Given the description of an element on the screen output the (x, y) to click on. 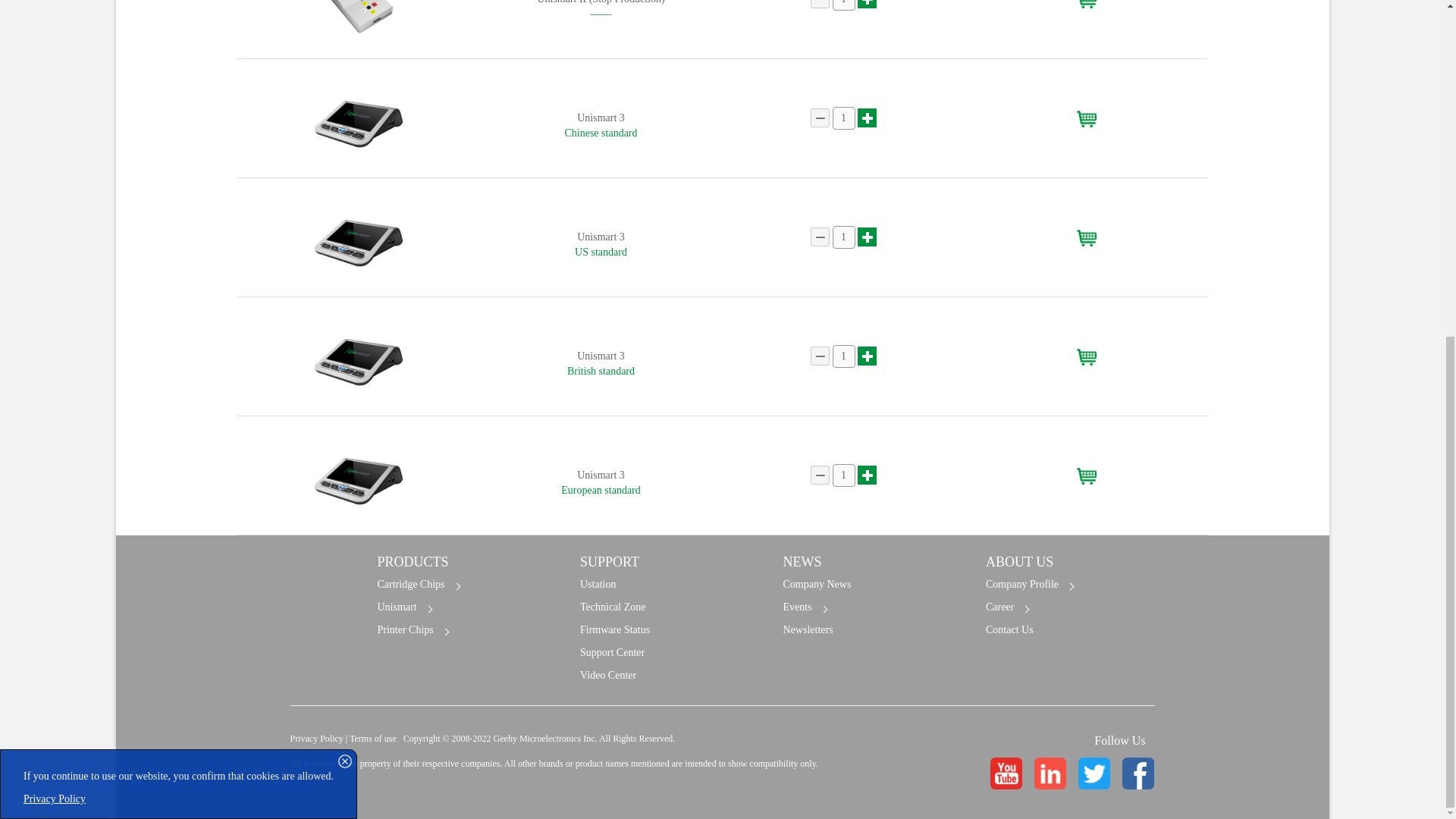
1 (844, 118)
1 (844, 5)
1 (844, 475)
1 (844, 237)
1 (844, 355)
